Given the description of an element on the screen output the (x, y) to click on. 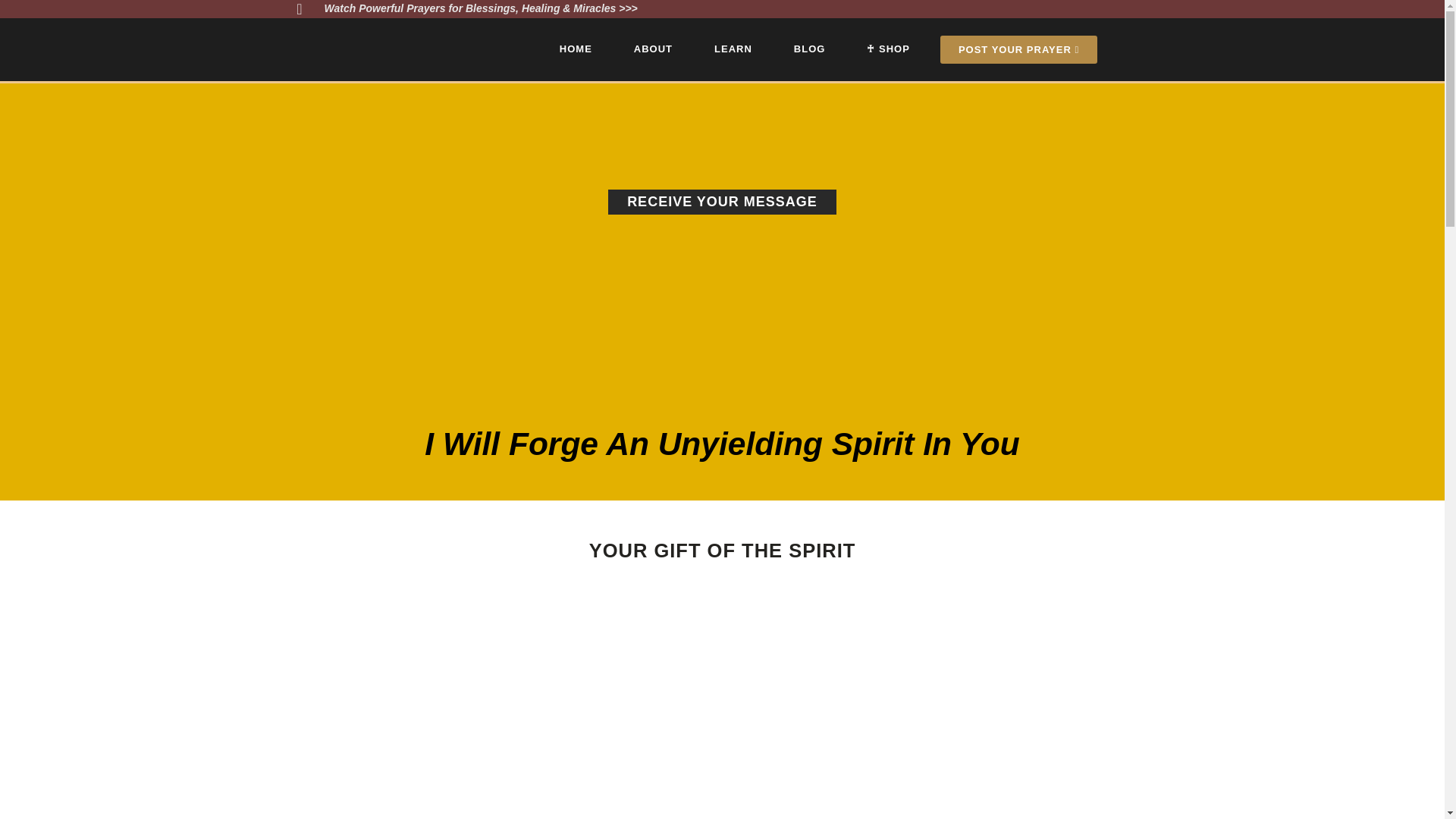
cropped-St.-Benedict-Prayer-Wall-Logo-Light-250px.png (375, 49)
LEARN (732, 48)
BLOG (809, 48)
ABOUT (652, 48)
HOME (575, 48)
